Given the description of an element on the screen output the (x, y) to click on. 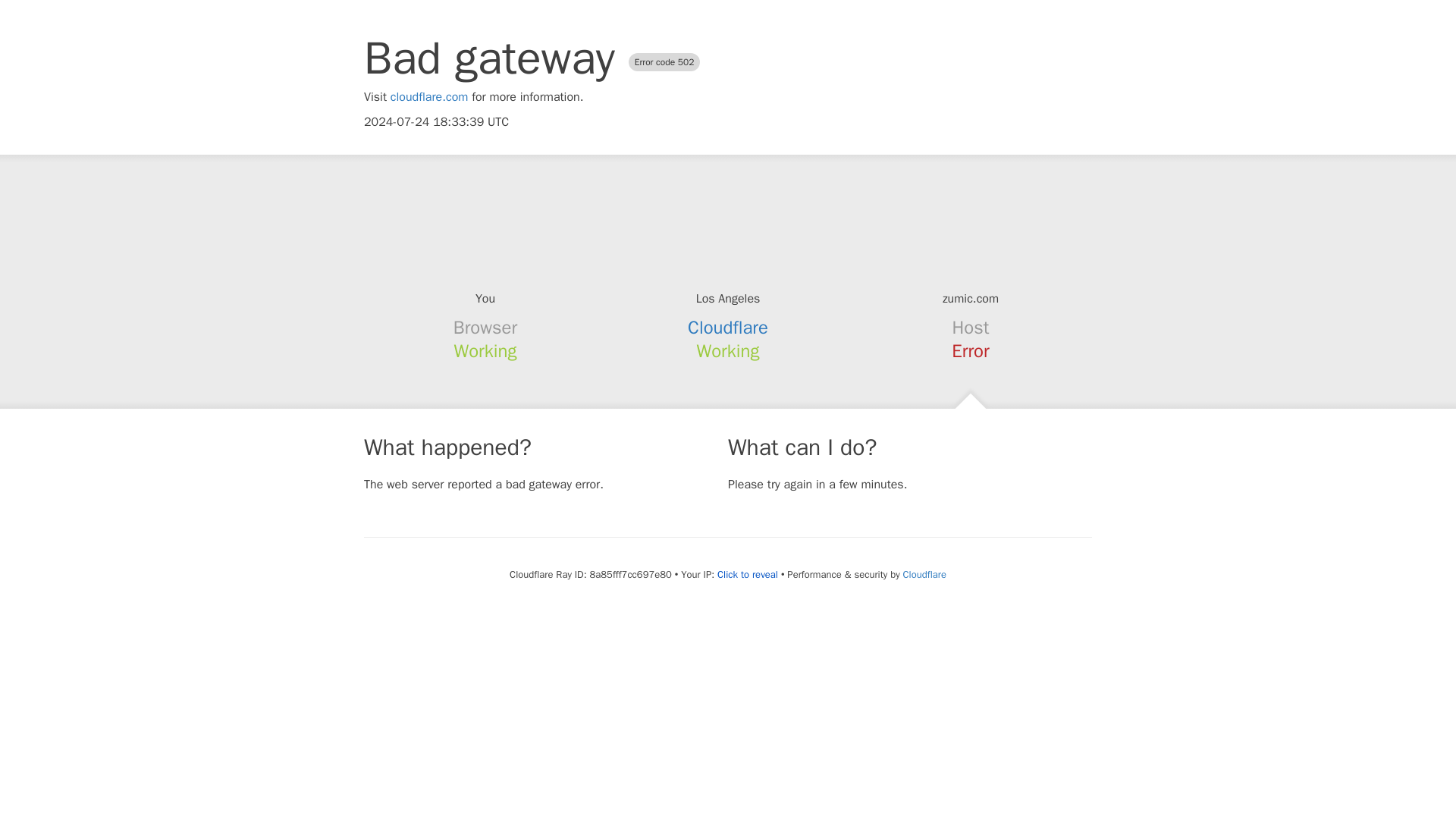
Cloudflare (727, 327)
cloudflare.com (429, 96)
Click to reveal (747, 574)
Cloudflare (924, 574)
